Given the description of an element on the screen output the (x, y) to click on. 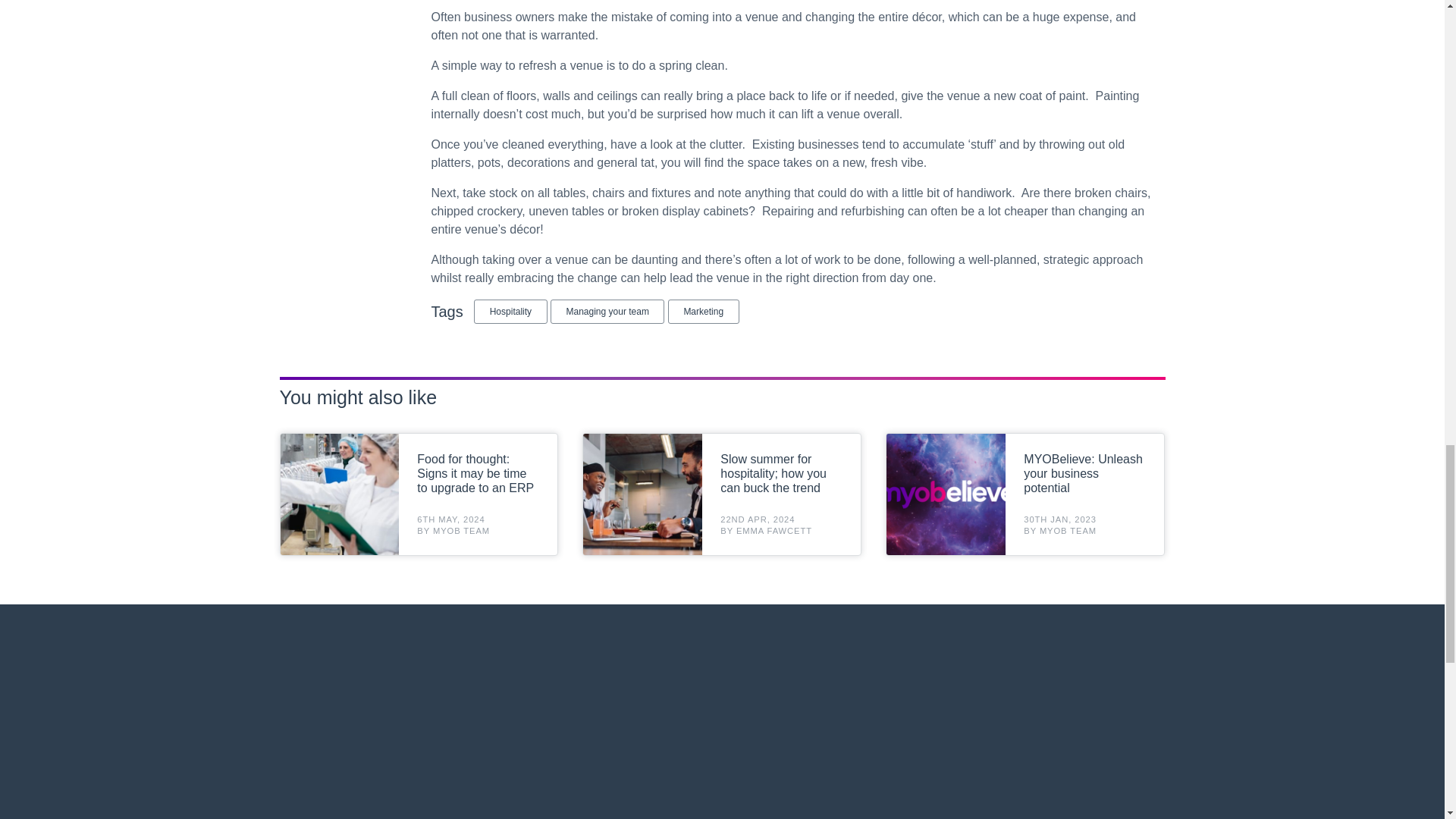
Managing your team (606, 311)
Marketing (703, 311)
Form 0 (721, 729)
Hospitality (510, 311)
